Given the description of an element on the screen output the (x, y) to click on. 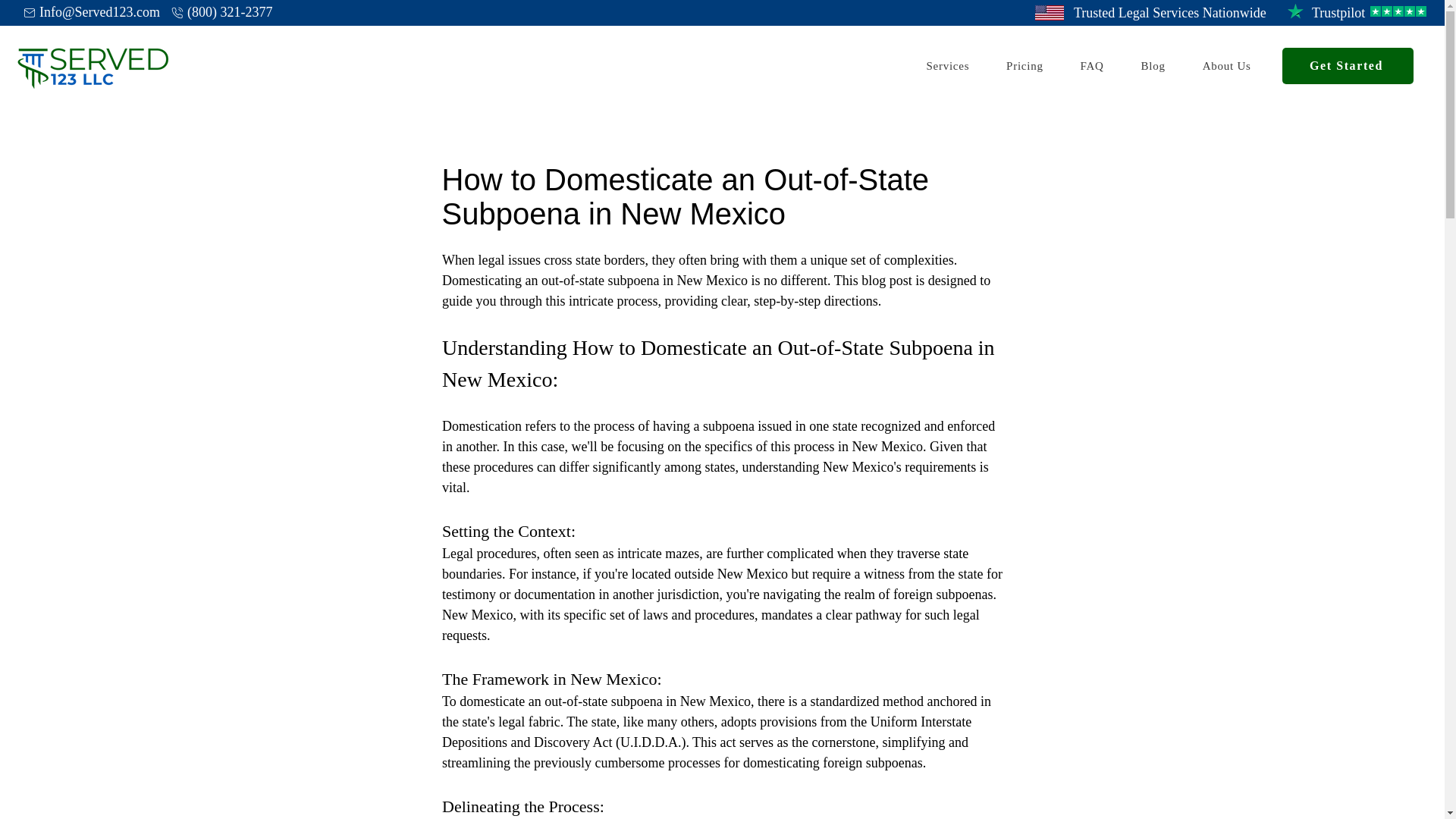
Get Started (1088, 66)
FAQ (1347, 65)
Services (1091, 66)
Pricing (948, 66)
Trustpilot (1024, 66)
About Us (1338, 12)
Hidden (1226, 66)
Trusted Legal Services Nationwide (721, 13)
Blog (1170, 12)
